Given the description of an element on the screen output the (x, y) to click on. 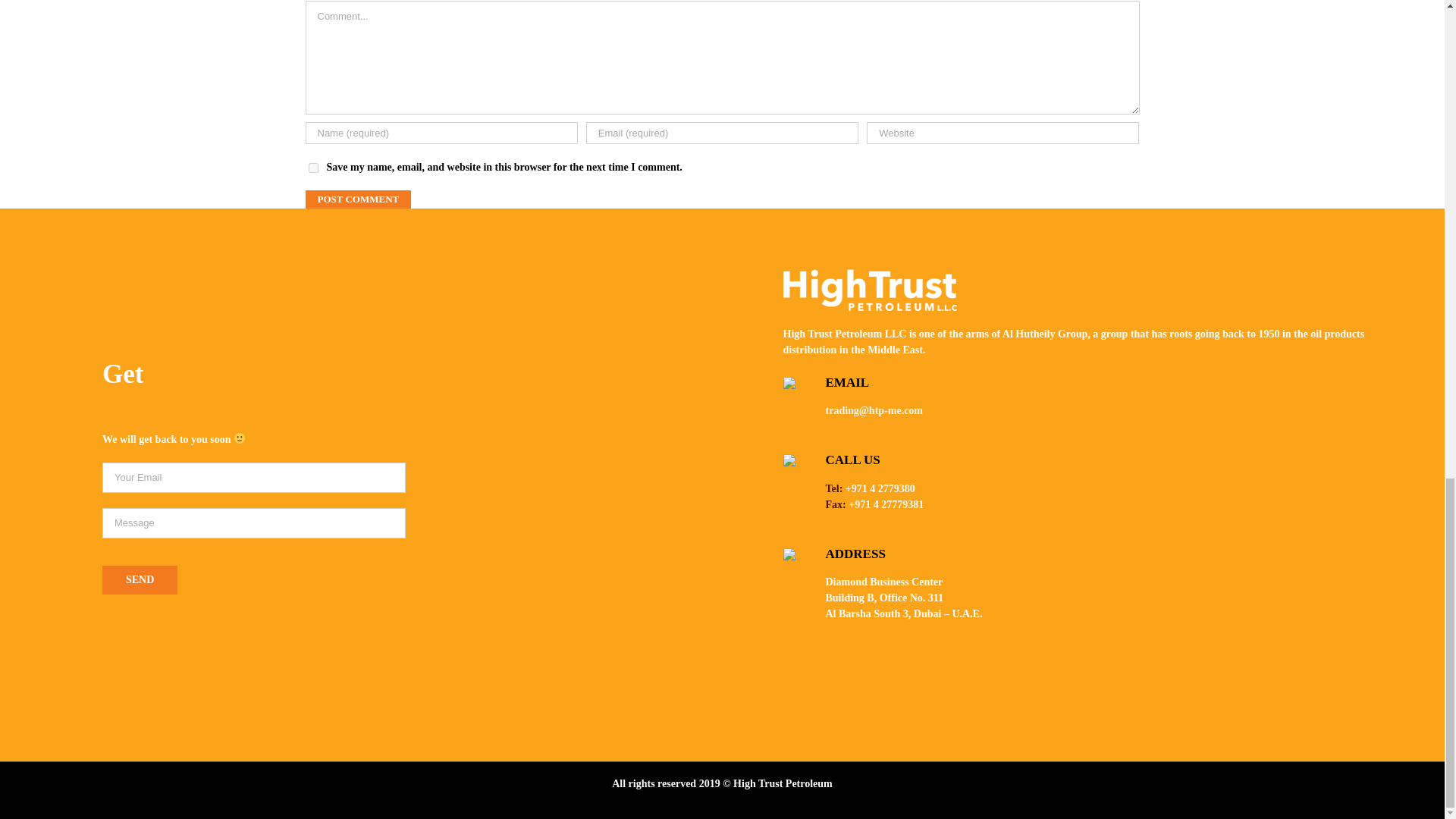
Post Comment (357, 199)
yes (312, 167)
SEND (139, 579)
